Given the description of an element on the screen output the (x, y) to click on. 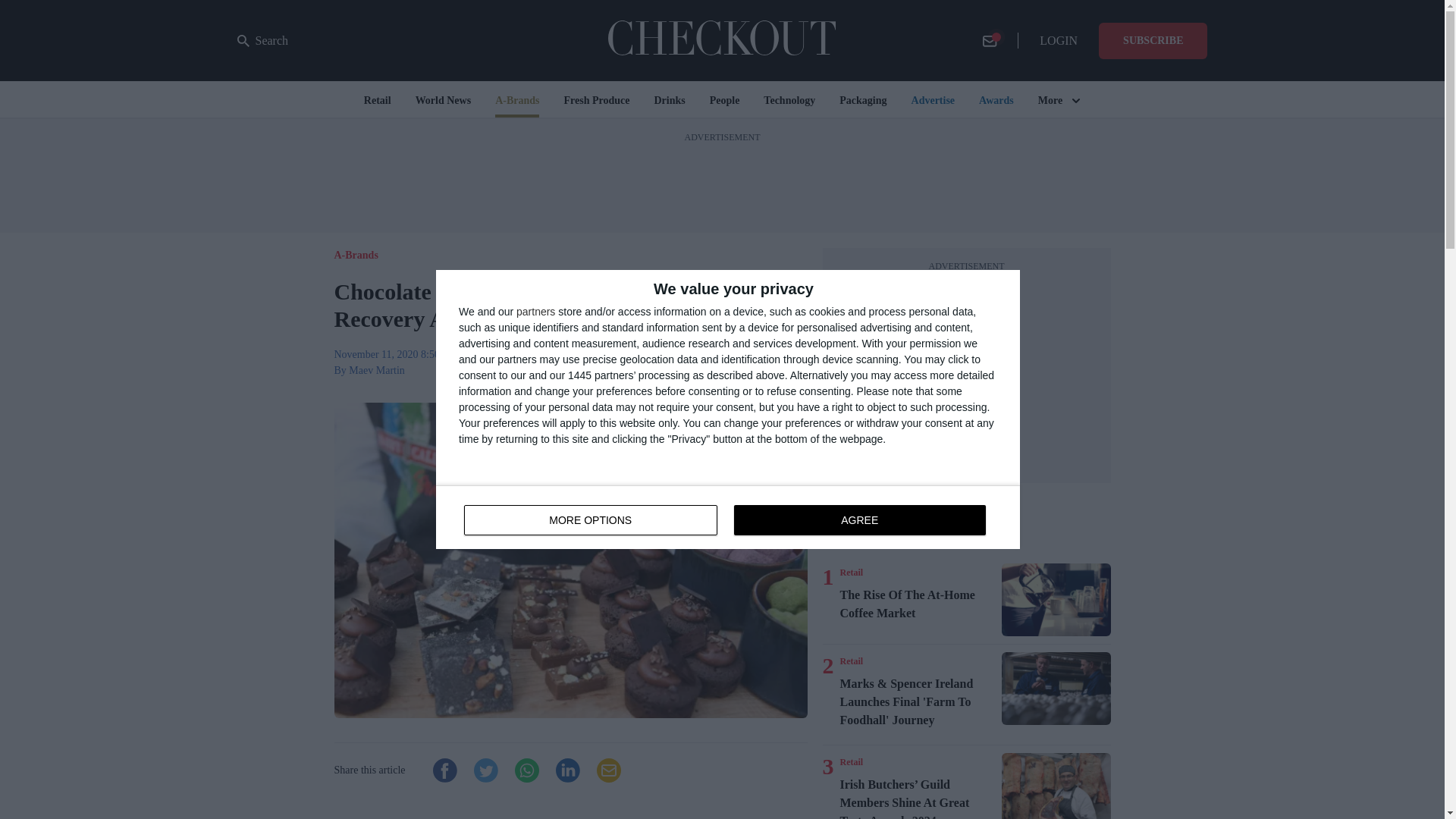
Retail (851, 572)
The Rise Of The At-Home Coffee Market (917, 604)
Retail (851, 661)
Search (261, 40)
Retail (727, 516)
The Rise Of The At-Home Coffee Market (851, 761)
